Given the description of an element on the screen output the (x, y) to click on. 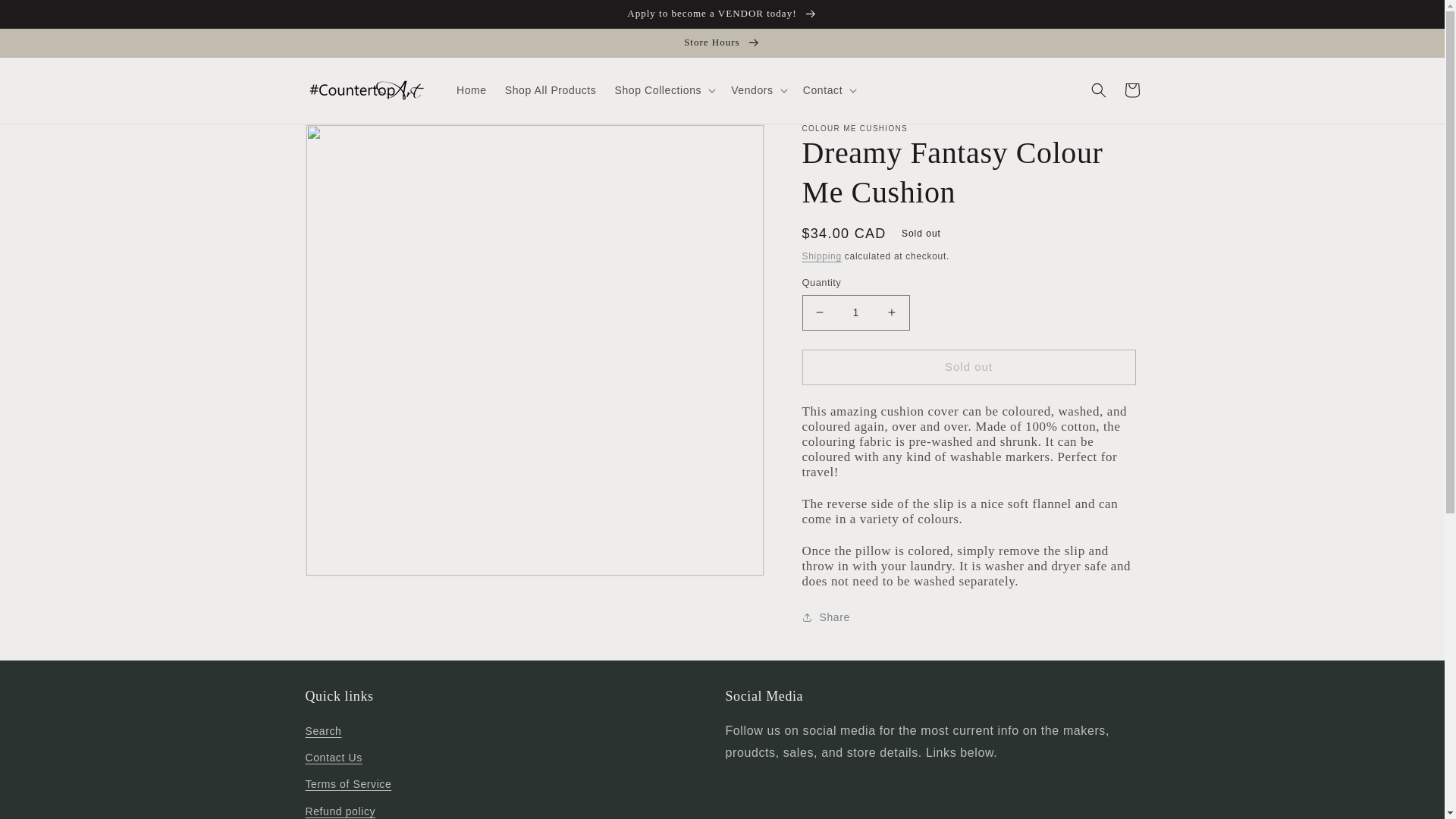
Shop All Products (550, 90)
Home (471, 90)
1 (856, 312)
Skip to content (45, 17)
